Given the description of an element on the screen output the (x, y) to click on. 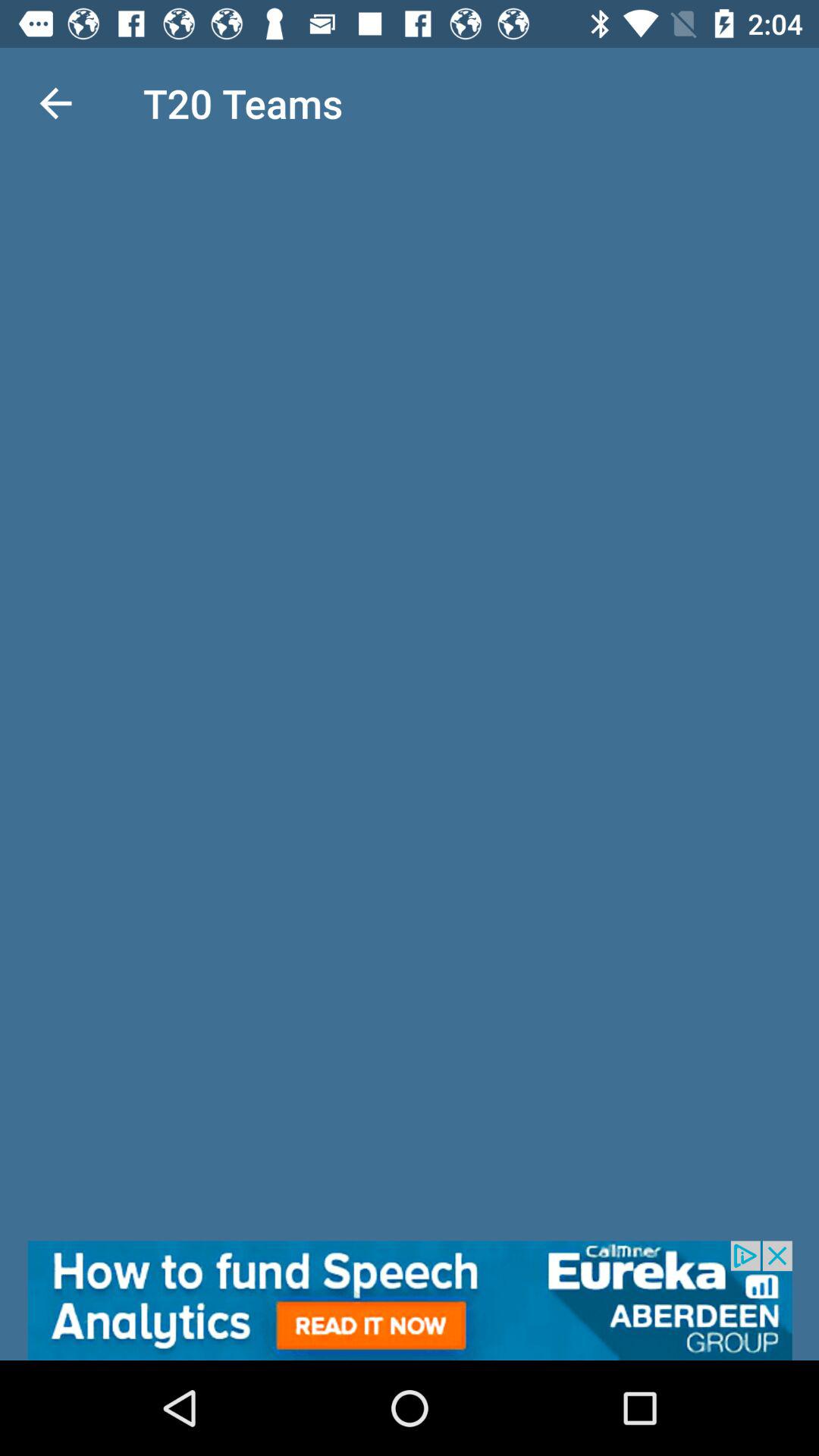
go to advertisement website (409, 1300)
